Given the description of an element on the screen output the (x, y) to click on. 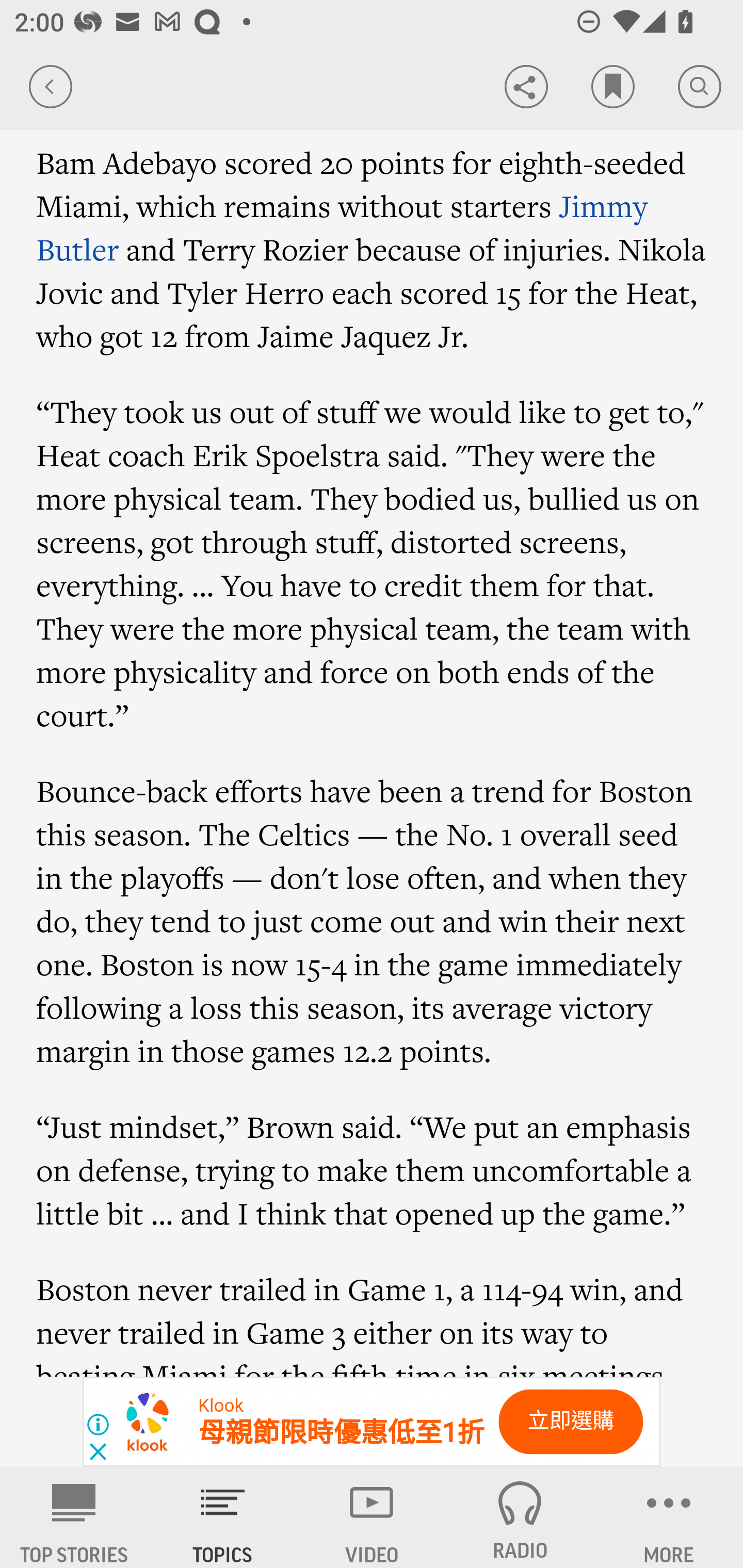
Jimmy Butler (341, 227)
立即選購 Klook 母親節限時優惠低至1折 立即選購 Klook 母親節限時優惠低至1折 (371, 1421)
AP News TOP STORIES (74, 1517)
TOPICS (222, 1517)
VIDEO (371, 1517)
RADIO (519, 1517)
MORE (668, 1517)
